Given the description of an element on the screen output the (x, y) to click on. 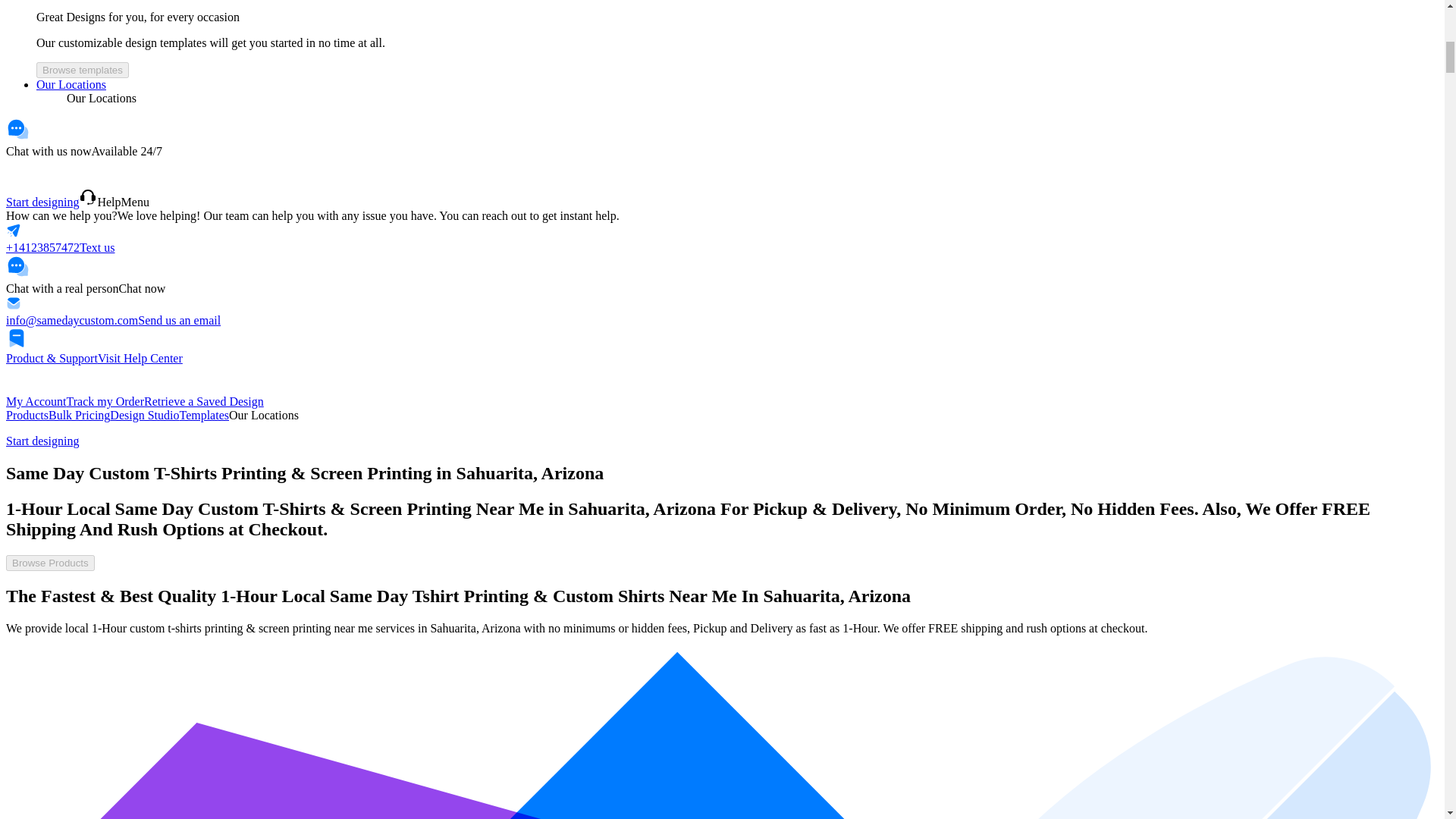
My Account (35, 400)
Help (99, 201)
Track my Order (105, 400)
Products (26, 414)
Retrieve a Saved Design (203, 400)
Start designing (41, 440)
Design Studio (144, 414)
Menu (134, 201)
Start designing (41, 201)
Templates (203, 414)
Browse Products (49, 562)
Browse templates (82, 69)
Browse templates (82, 69)
Browse Products (49, 562)
Bulk Pricing (79, 414)
